Given the description of an element on the screen output the (x, y) to click on. 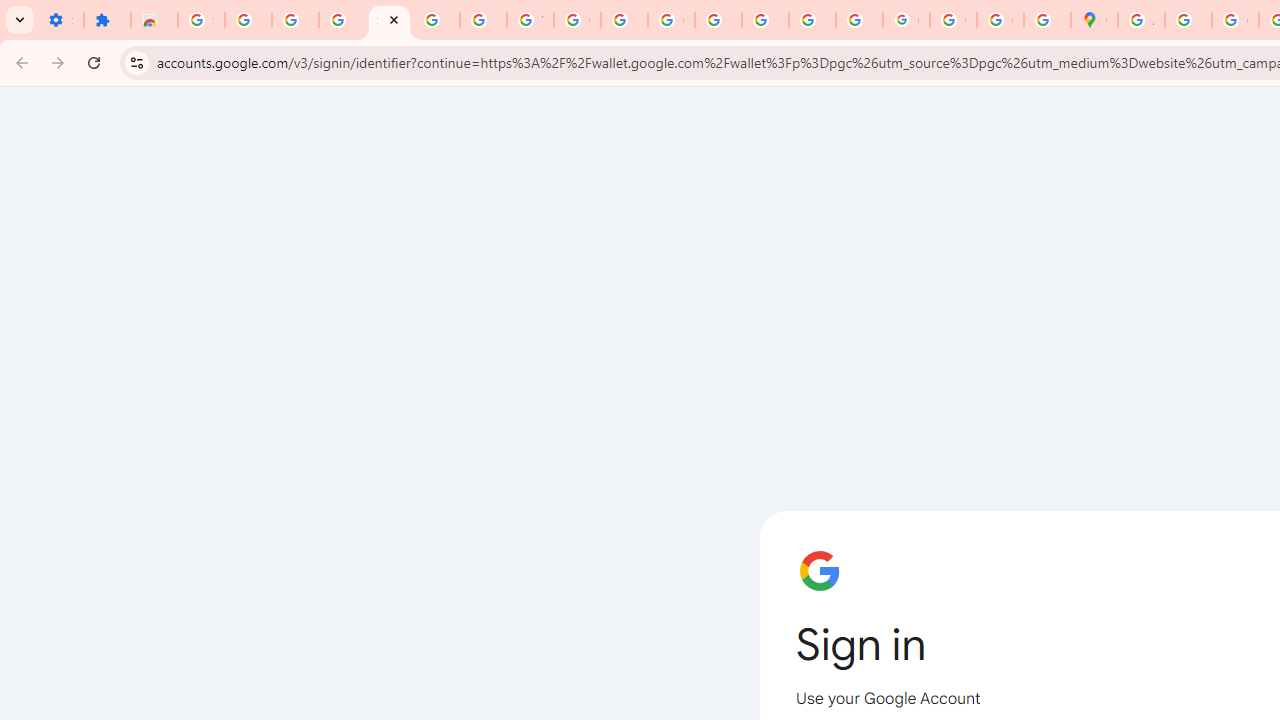
https://scholar.google.com/ (623, 20)
Create your Google Account (1235, 20)
Reviews: Helix Fruit Jump Arcade Game (153, 20)
Sign in - Google Accounts (201, 20)
Privacy Help Center - Policies Help (718, 20)
Sign in - Google Accounts (389, 20)
